Given the description of an element on the screen output the (x, y) to click on. 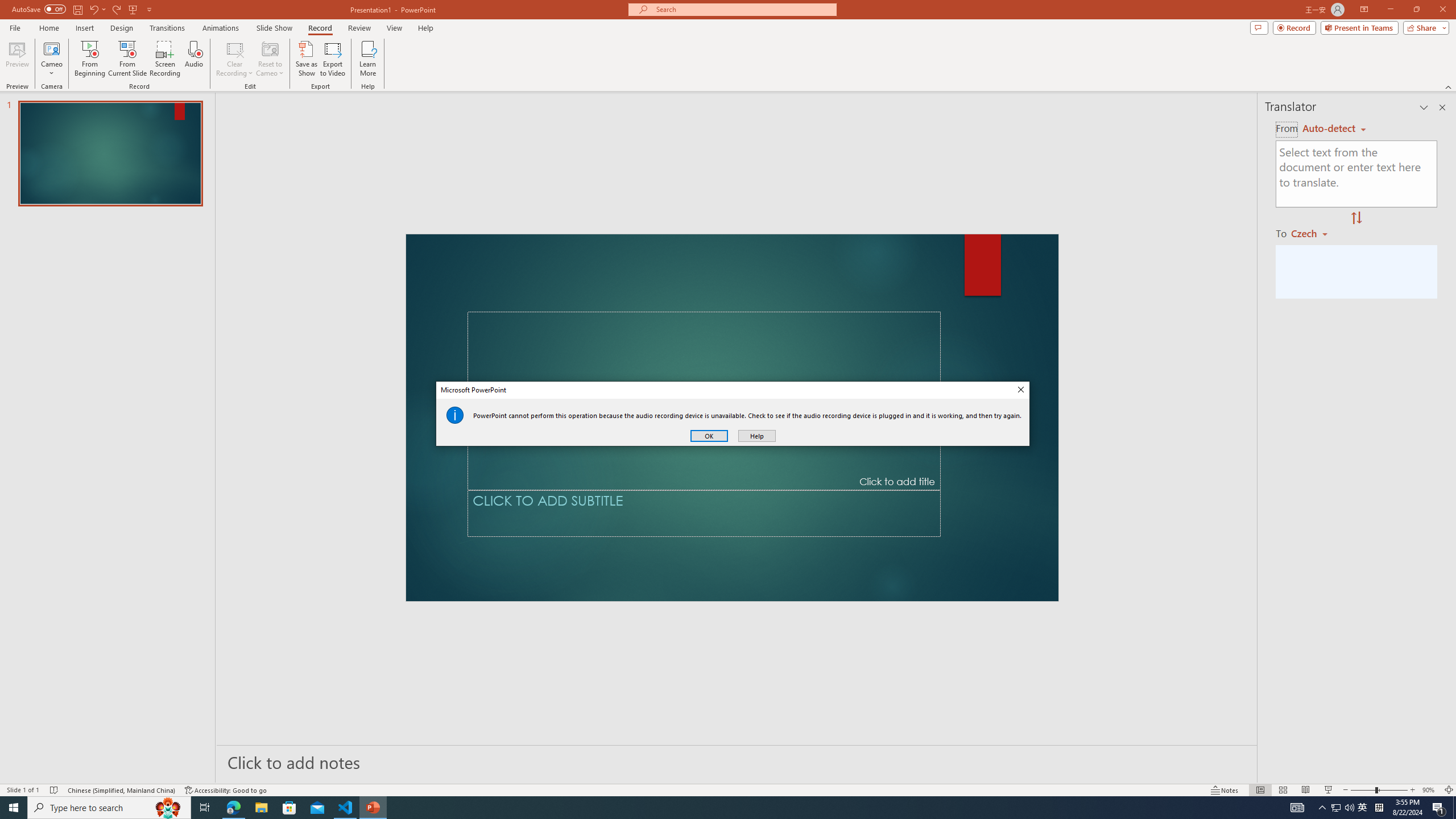
Export to Video (332, 58)
Learn More (368, 58)
From Current Slide... (127, 58)
OK (709, 435)
Swap "from" and "to" languages. (1355, 218)
